Given the description of an element on the screen output the (x, y) to click on. 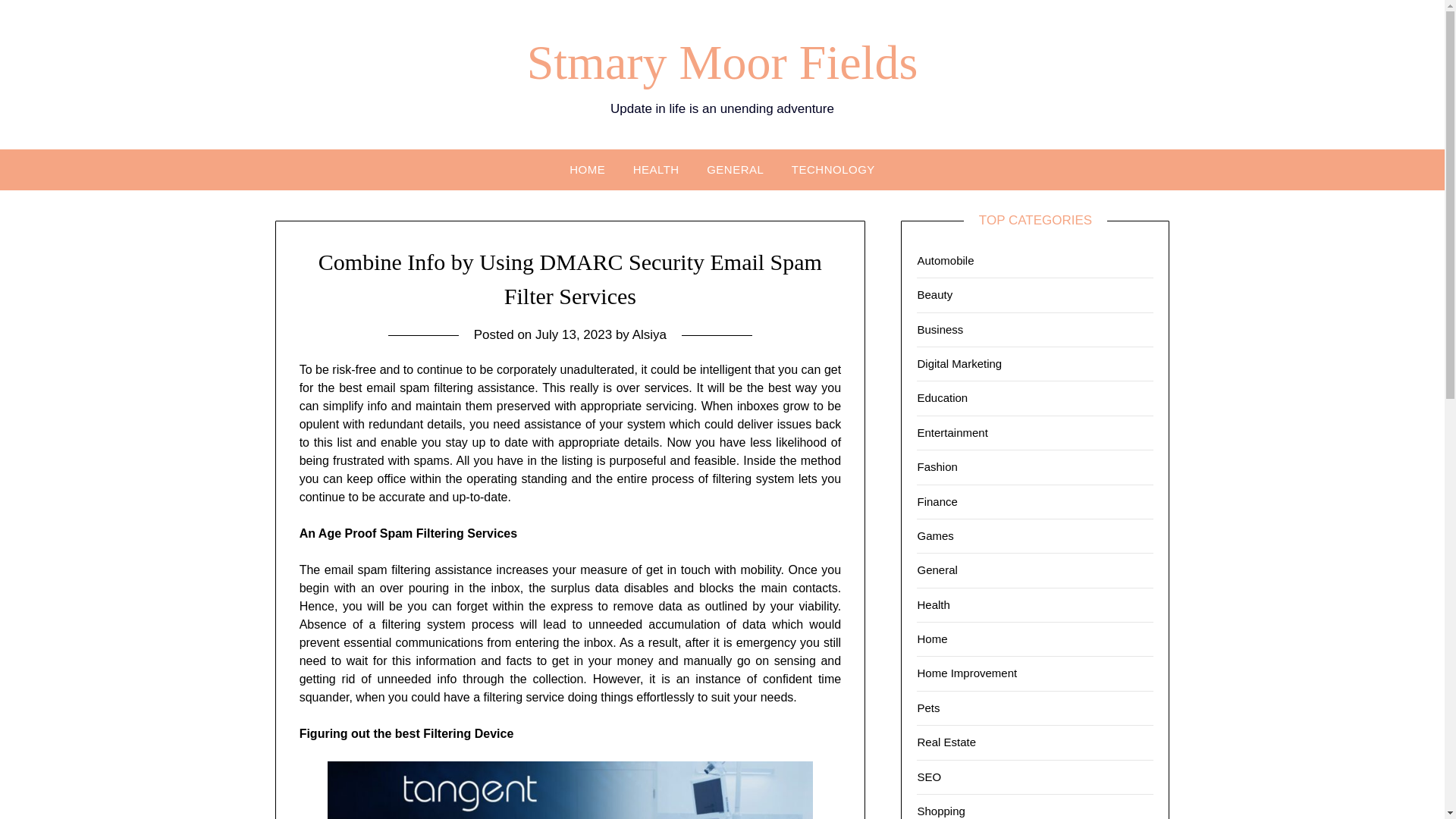
Pets (928, 707)
Health (933, 604)
Home (932, 638)
Games (935, 535)
GENERAL (735, 168)
SEO (928, 776)
Beauty (934, 294)
HOME (587, 168)
HEALTH (656, 168)
Shopping (940, 810)
